Given the description of an element on the screen output the (x, y) to click on. 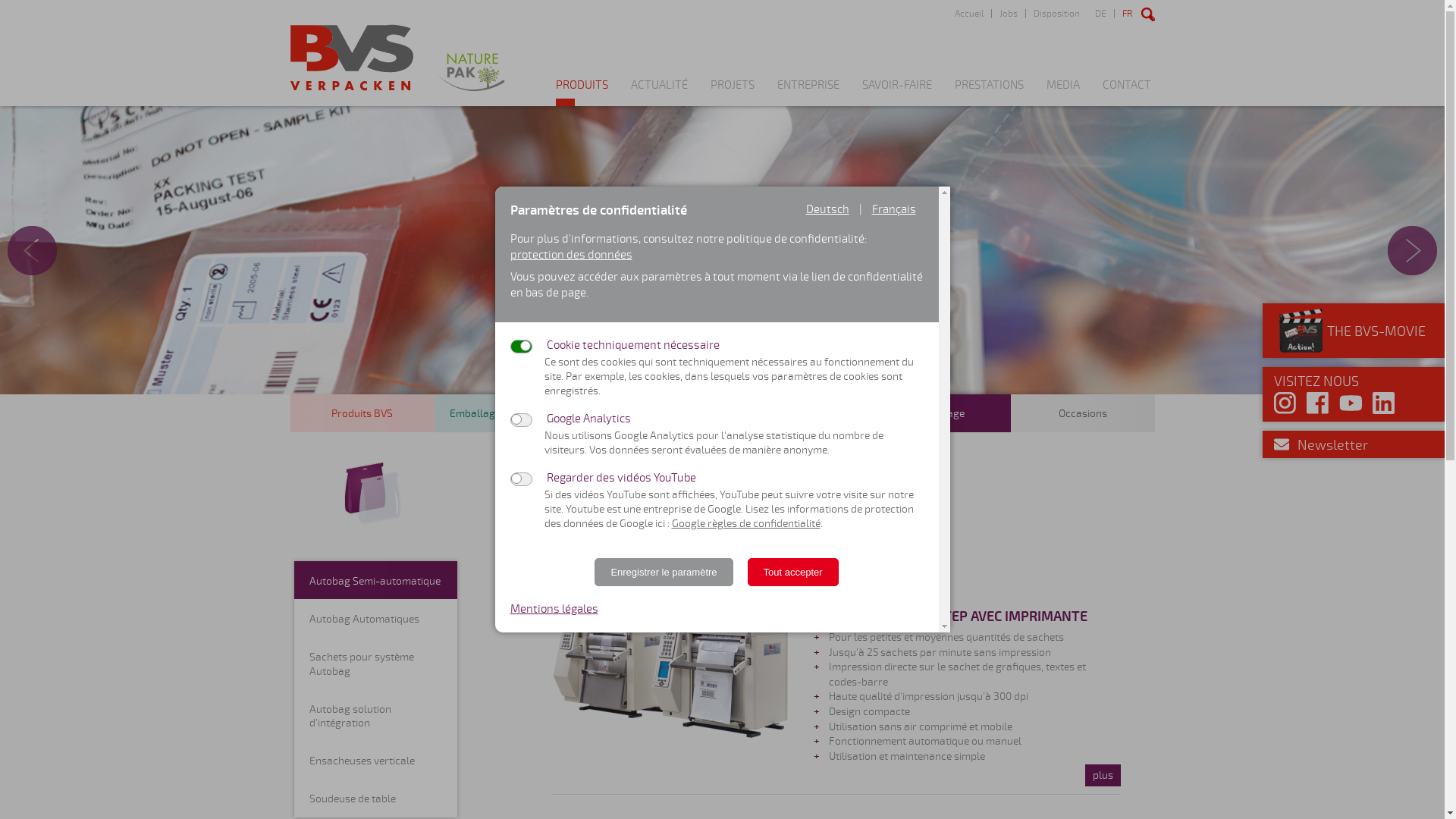
Tout accepter Element type: text (792, 572)
Autobag Semi-automatique Element type: text (375, 580)
PROJETS Element type: text (731, 92)
Ensacheuses verticale Element type: text (375, 759)
Disposition Element type: text (1056, 13)
DE Element type: text (1100, 13)
Newsletter Element type: text (1332, 444)
Emballages de transport Element type: text (649, 413)
Deutsch Element type: text (826, 209)
ENTREPRISE Element type: text (807, 92)
MEDIA Element type: text (1062, 92)
PRODUITS Element type: text (581, 92)
Next Element type: text (1411, 250)
Accueil Element type: text (968, 13)
Occasions Element type: text (1082, 413)
plus Element type: text (1102, 775)
FR Element type: text (1126, 13)
Soudeuse de table Element type: text (375, 797)
SAVOIR-FAIRE Element type: text (896, 92)
THE BVS-MOVIE Element type: text (1349, 331)
CONTACT Element type: text (1126, 92)
Emballages sous film Element type: text (793, 413)
PRESTATIONS Element type: text (987, 92)
Produits BVS Element type: text (361, 413)
Previous Element type: text (31, 250)
Jobs Element type: text (1007, 13)
Ensachage Element type: text (938, 413)
Autobag Element type: hover (671, 664)
Autobag Automatiques Element type: text (375, 618)
